Given the description of an element on the screen output the (x, y) to click on. 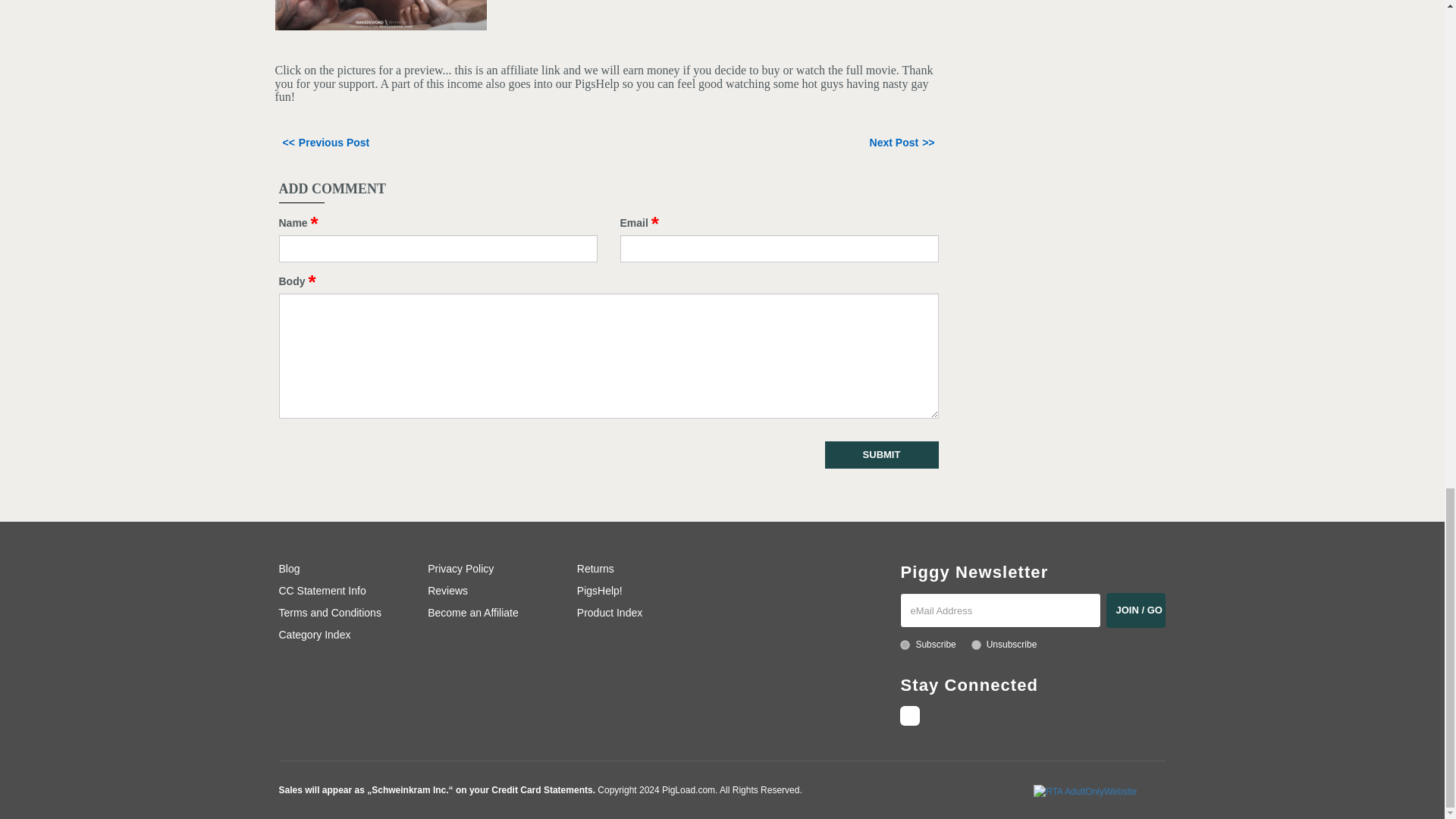
Submit (882, 455)
0 (976, 644)
1 (904, 644)
Follow Us on Twitter (909, 715)
